Given the description of an element on the screen output the (x, y) to click on. 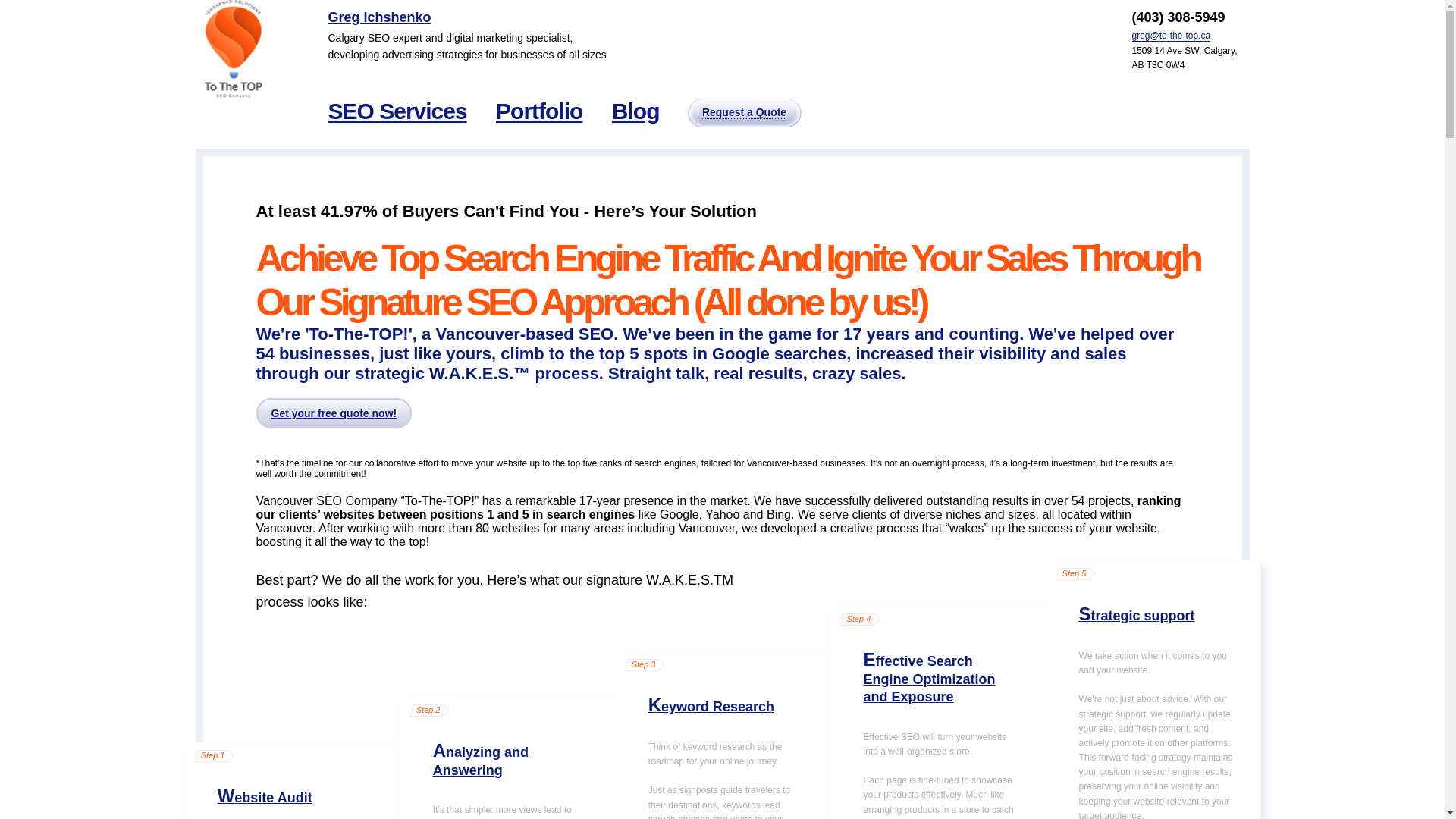
Get your free quote now! (334, 413)
Greg Ichshenko (378, 17)
Request a Quote (744, 112)
Calgary SEO Company To the TOP! (232, 49)
Blog (635, 110)
SEO Services (396, 110)
Portfolio (539, 110)
